Given the description of an element on the screen output the (x, y) to click on. 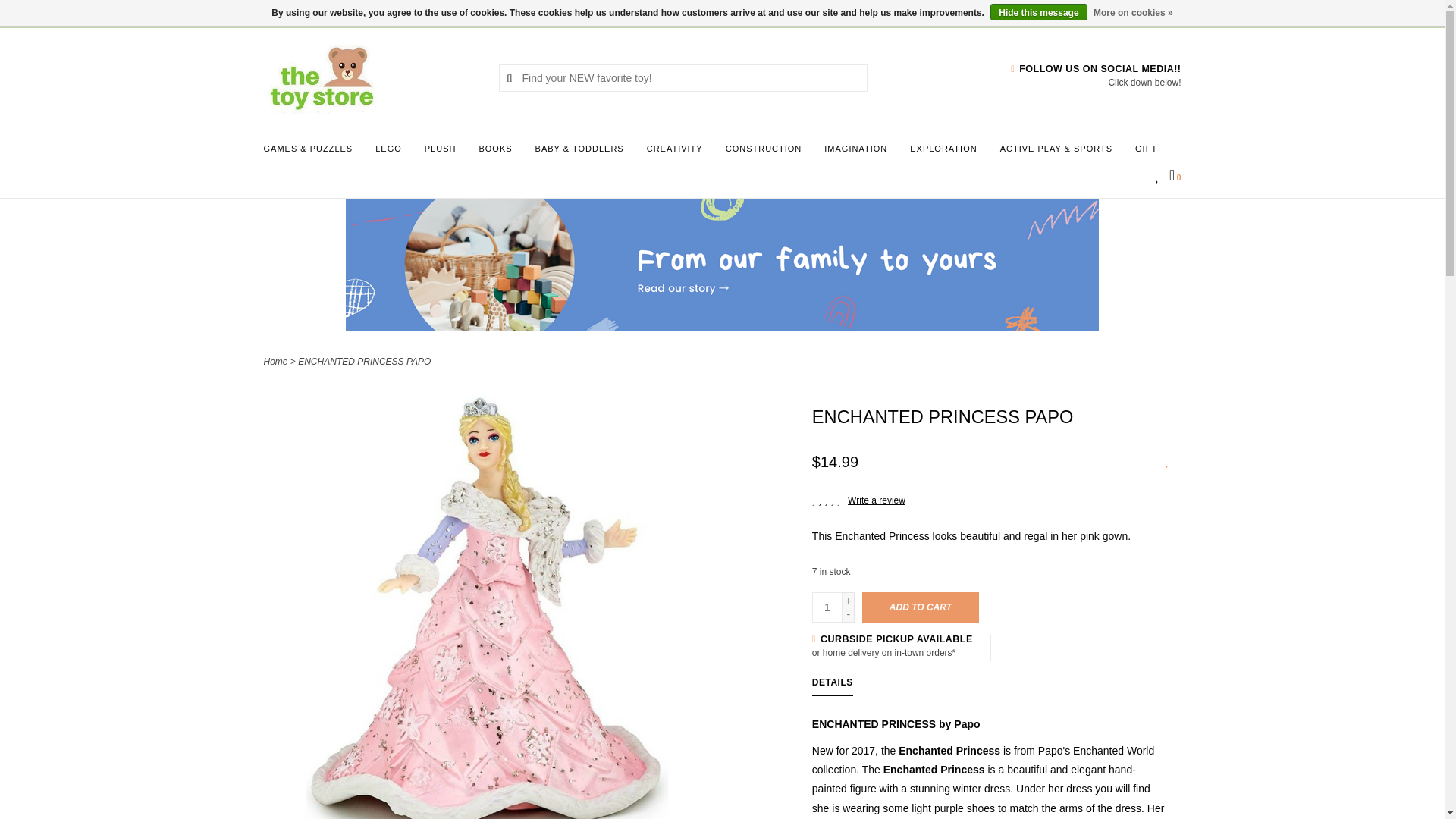
THE TOY STORE (369, 77)
My account (390, 12)
Login (390, 12)
Currency (282, 12)
LEGO (392, 152)
1 (827, 607)
Locations (1152, 12)
Contact us (341, 12)
